Given the description of an element on the screen output the (x, y) to click on. 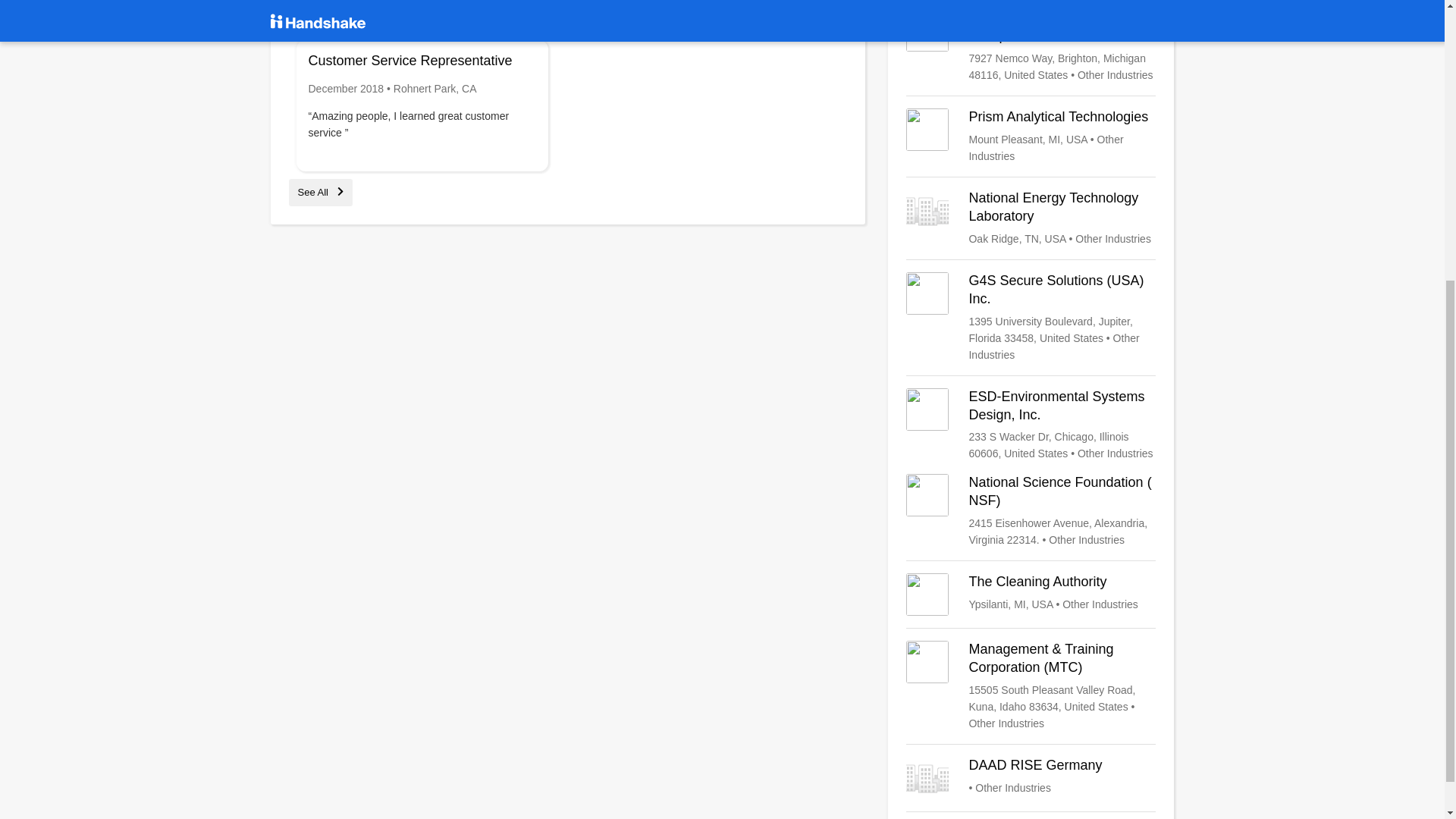
The Cleaning Authority (1030, 594)
CommonSail Investment Group (1030, 46)
Prism Analytical Technologies (1030, 136)
ESD-Environmental Systems Design, Inc. (1030, 425)
National Energy Technology Laboratory (1030, 218)
See All (320, 192)
DAAD RISE Germany (1030, 777)
